Given the description of an element on the screen output the (x, y) to click on. 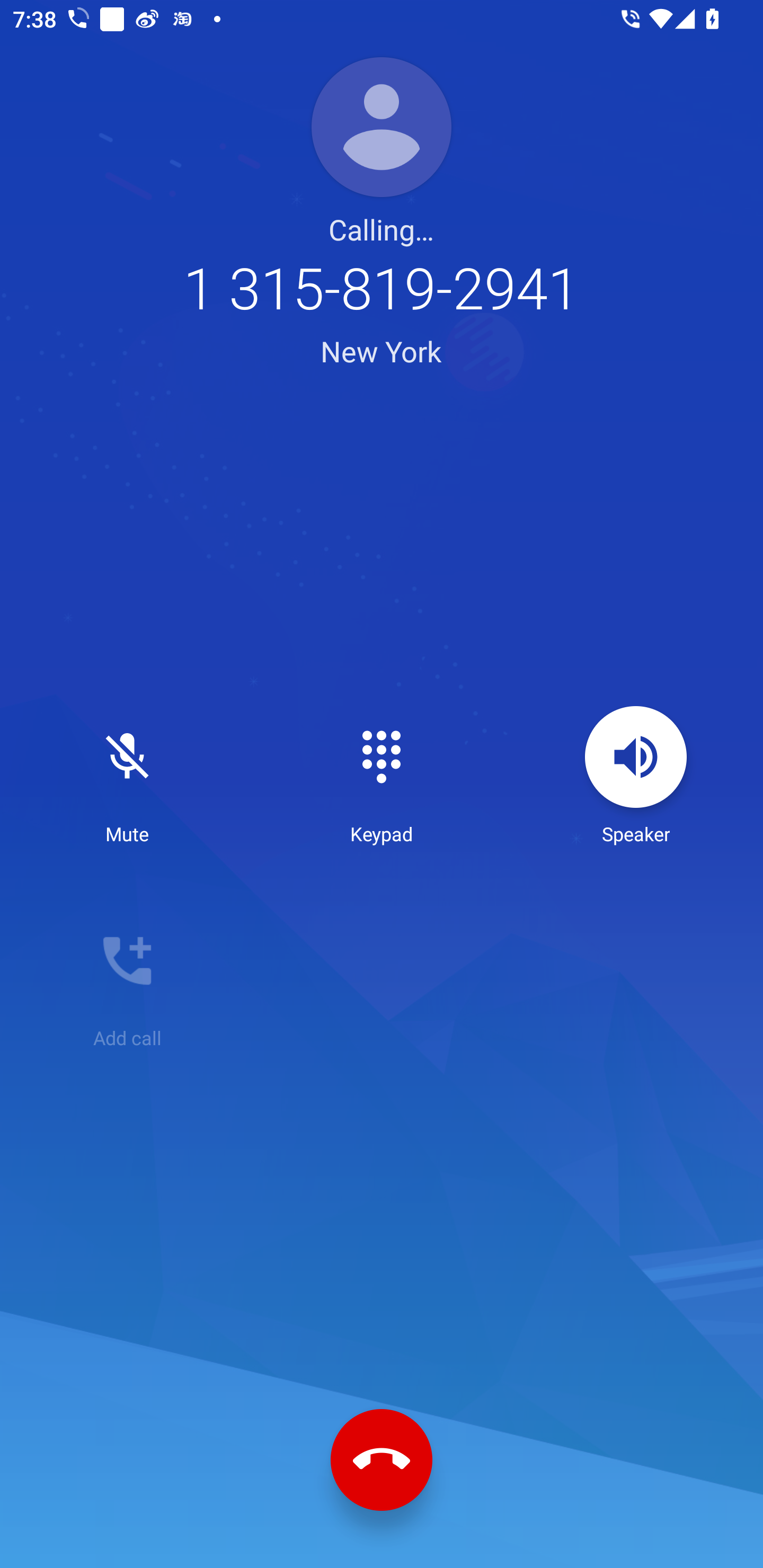
Unmuted Mute (127, 775)
Keypad (381, 775)
Speaker, is on Speaker (635, 775)
Add call (127, 979)
End call (381, 1460)
